Given the description of an element on the screen output the (x, y) to click on. 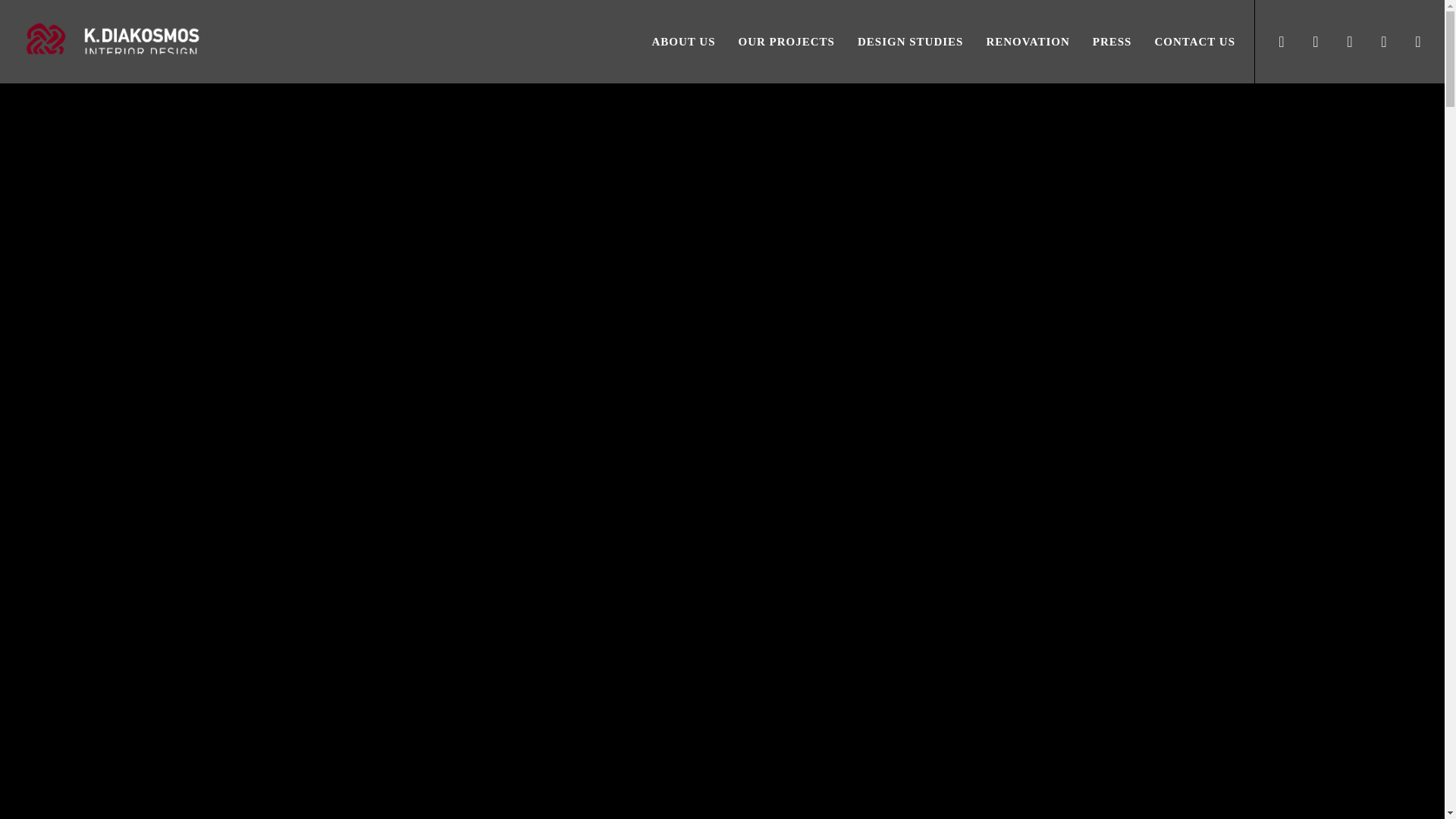
CONTACT US (1182, 41)
OUR PROJECTS (775, 41)
RENOVATION (1015, 41)
ABOUT US (672, 41)
DESIGN STUDIES (898, 41)
